Given the description of an element on the screen output the (x, y) to click on. 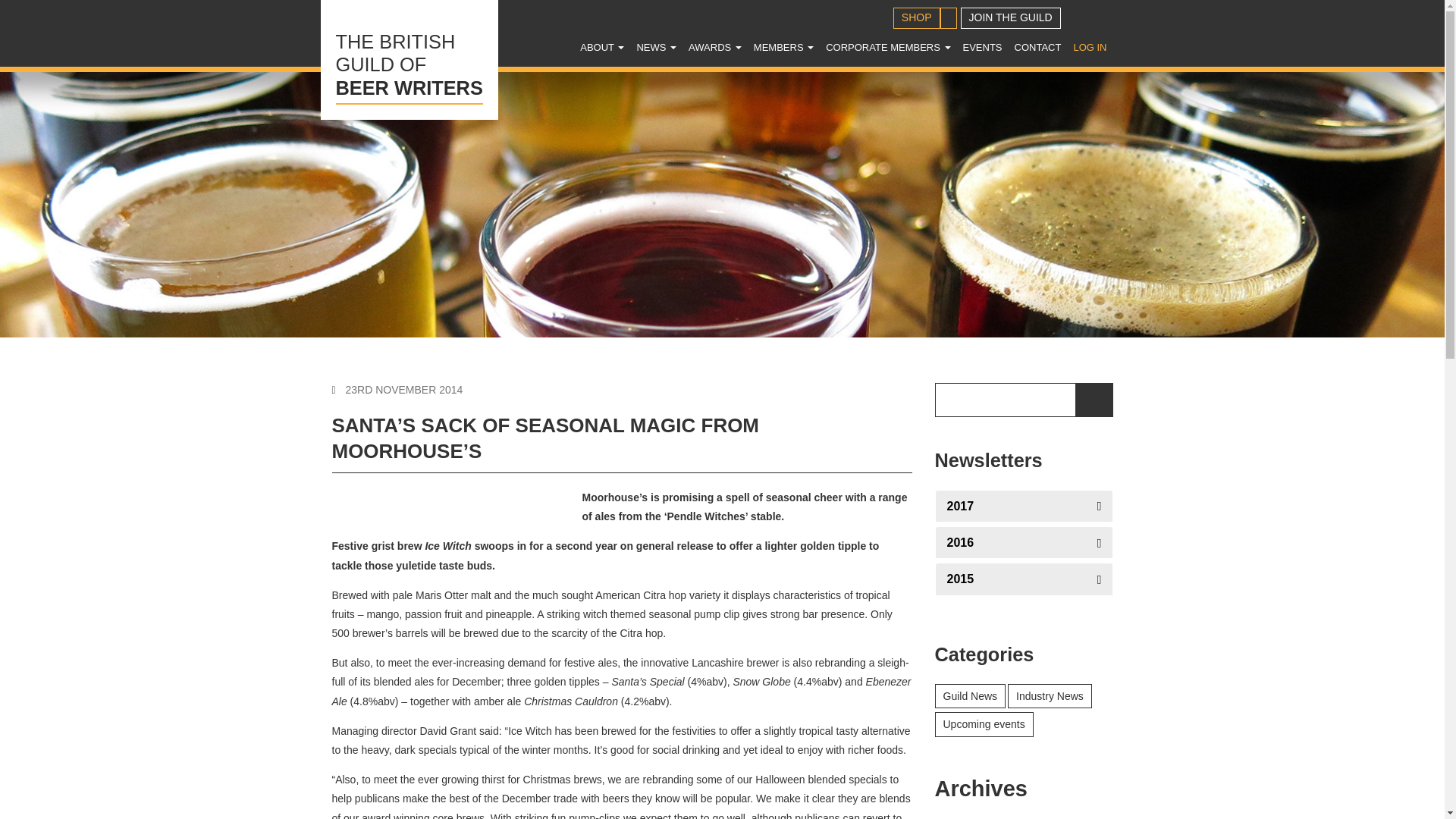
CORPORATE MEMBERS (887, 47)
EVENTS (982, 47)
Awards (715, 47)
AWARDS (715, 47)
MEMBERS (783, 47)
Members (783, 47)
SHOP (916, 17)
NEWS (656, 47)
JOIN THE GUILD (1010, 17)
About (601, 47)
Search (408, 59)
ABOUT (1108, 55)
LOG IN (601, 47)
News (1089, 47)
